Given the description of an element on the screen output the (x, y) to click on. 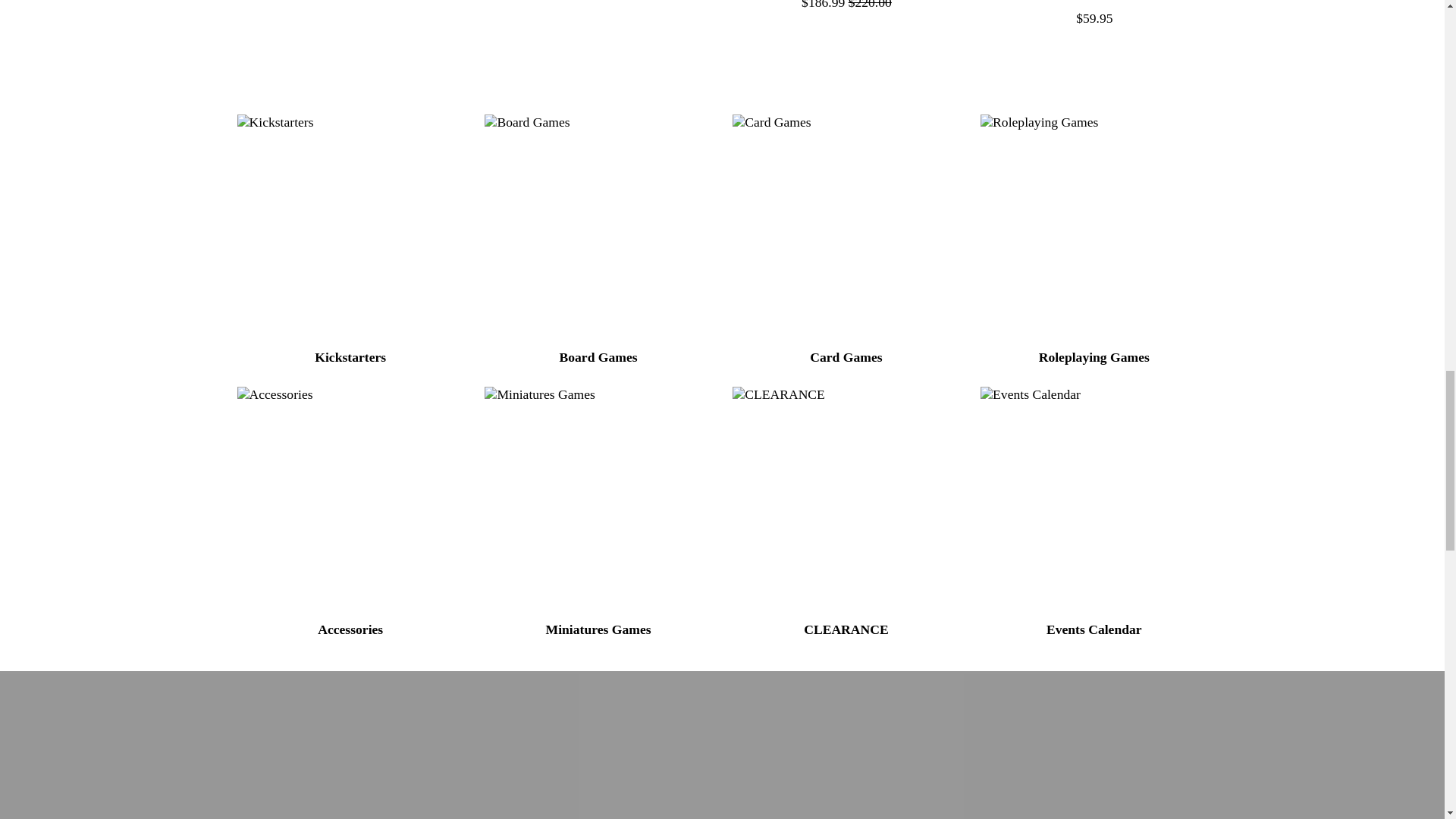
Card Games (845, 227)
Accessories (350, 499)
Miniatures Games (597, 499)
CLEARANCE (845, 499)
Events Calendar (1093, 499)
Roleplaying Games (1093, 227)
Kickstarters (350, 227)
Board Games (597, 227)
